Given the description of an element on the screen output the (x, y) to click on. 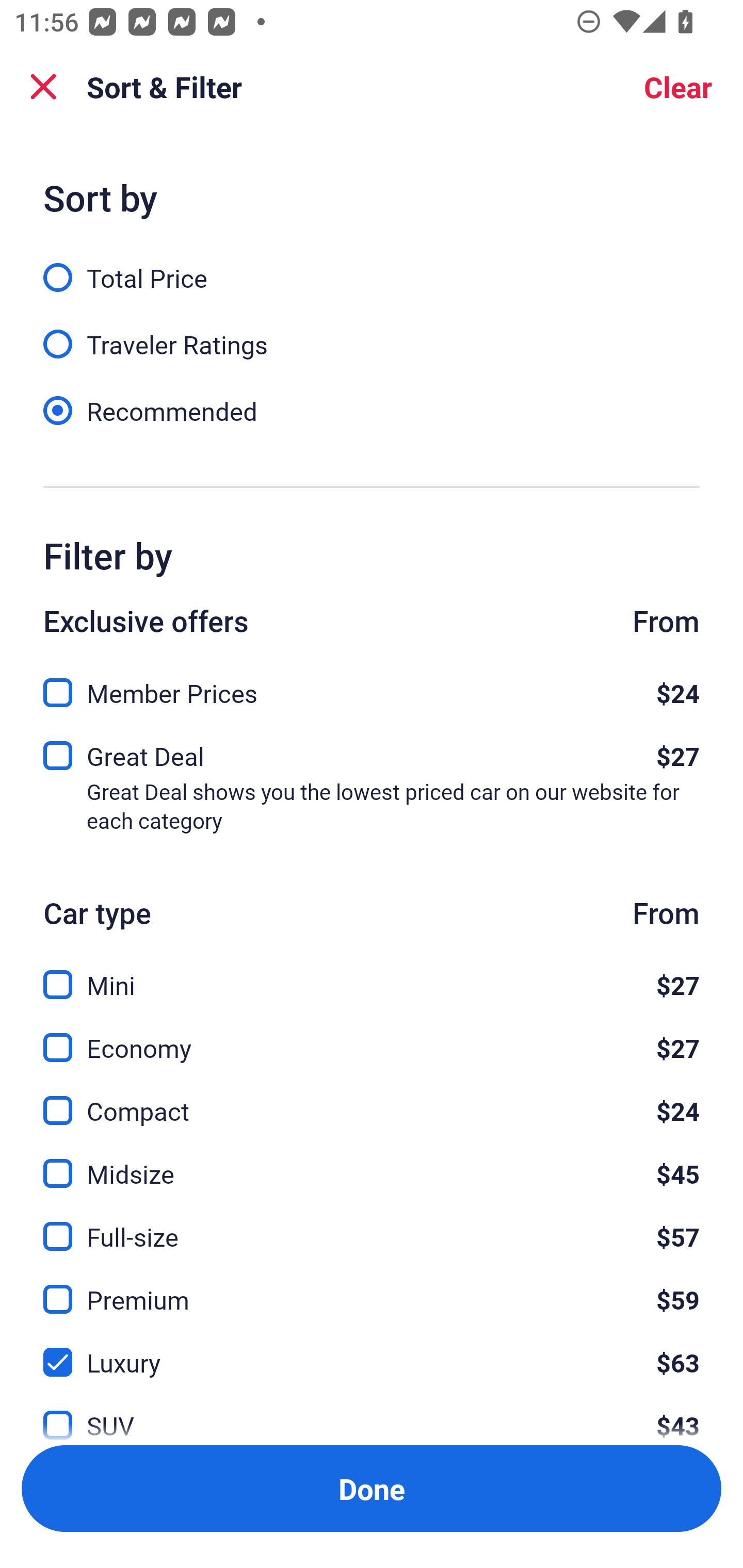
Close Sort and Filter (43, 86)
Clear (677, 86)
Total Price (371, 266)
Traveler Ratings (371, 332)
Member Prices, $24 Member Prices $24 (371, 686)
Mini, $27 Mini $27 (371, 973)
Economy, $27 Economy $27 (371, 1036)
Compact, $24 Compact $24 (371, 1098)
Midsize, $45 Midsize $45 (371, 1161)
Full-size, $57 Full-size $57 (371, 1224)
Premium, $59 Premium $59 (371, 1286)
Luxury, $63 Luxury $63 (371, 1350)
SUV, $43 SUV $43 (371, 1413)
Apply and close Sort and Filter Done (371, 1488)
